Given the description of an element on the screen output the (x, y) to click on. 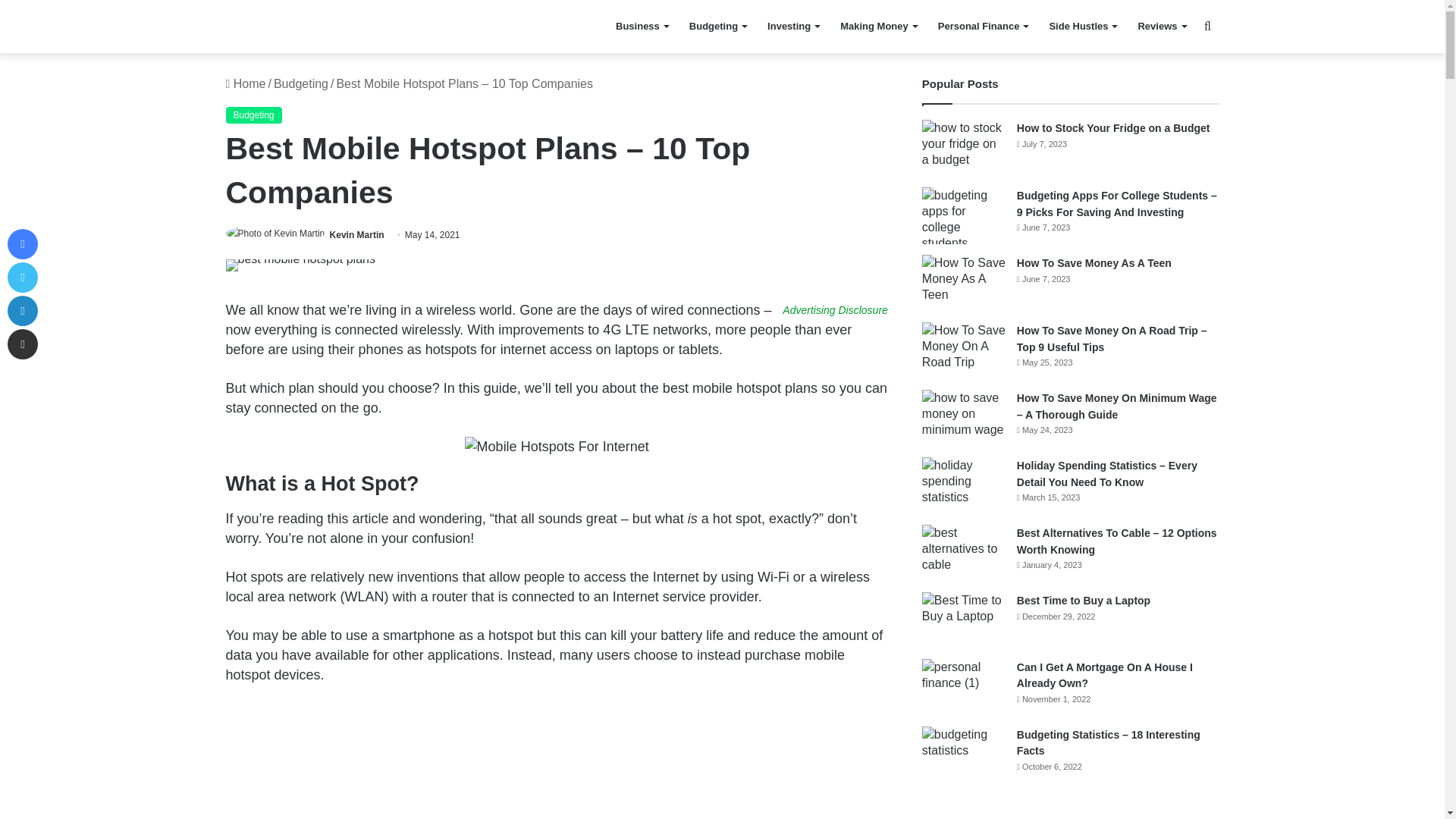
Kevin Martin (357, 235)
Investing (793, 26)
Share via Email (22, 344)
Personal Finance (983, 26)
Facebook (22, 244)
LinkedIn (22, 310)
Twitter (22, 277)
Making Money (878, 26)
Business (641, 26)
Budgeting (717, 26)
